Given the description of an element on the screen output the (x, y) to click on. 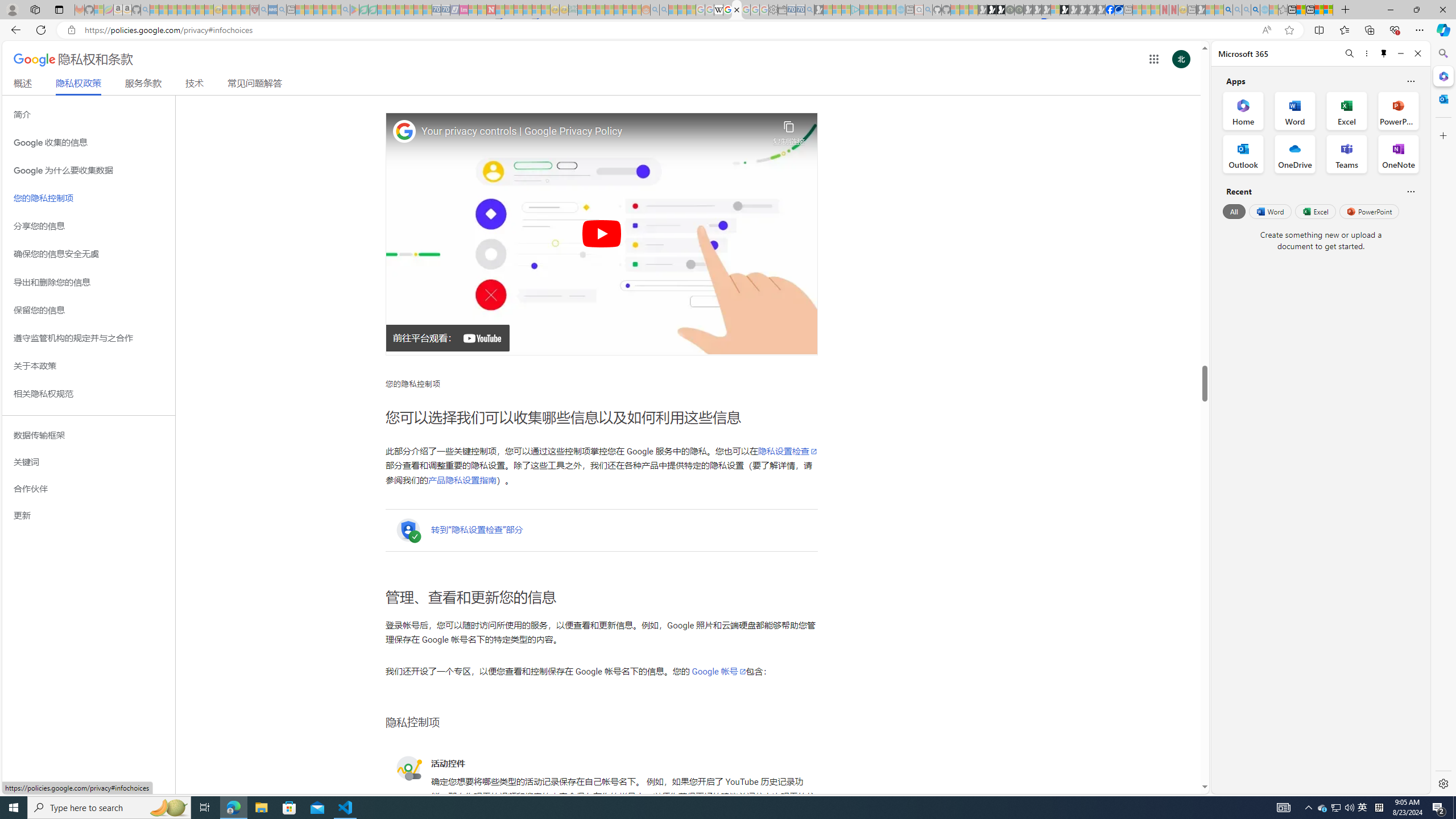
OneNote Office App (1398, 154)
Close Microsoft 365 pane (1442, 76)
